Given the description of an element on the screen output the (x, y) to click on. 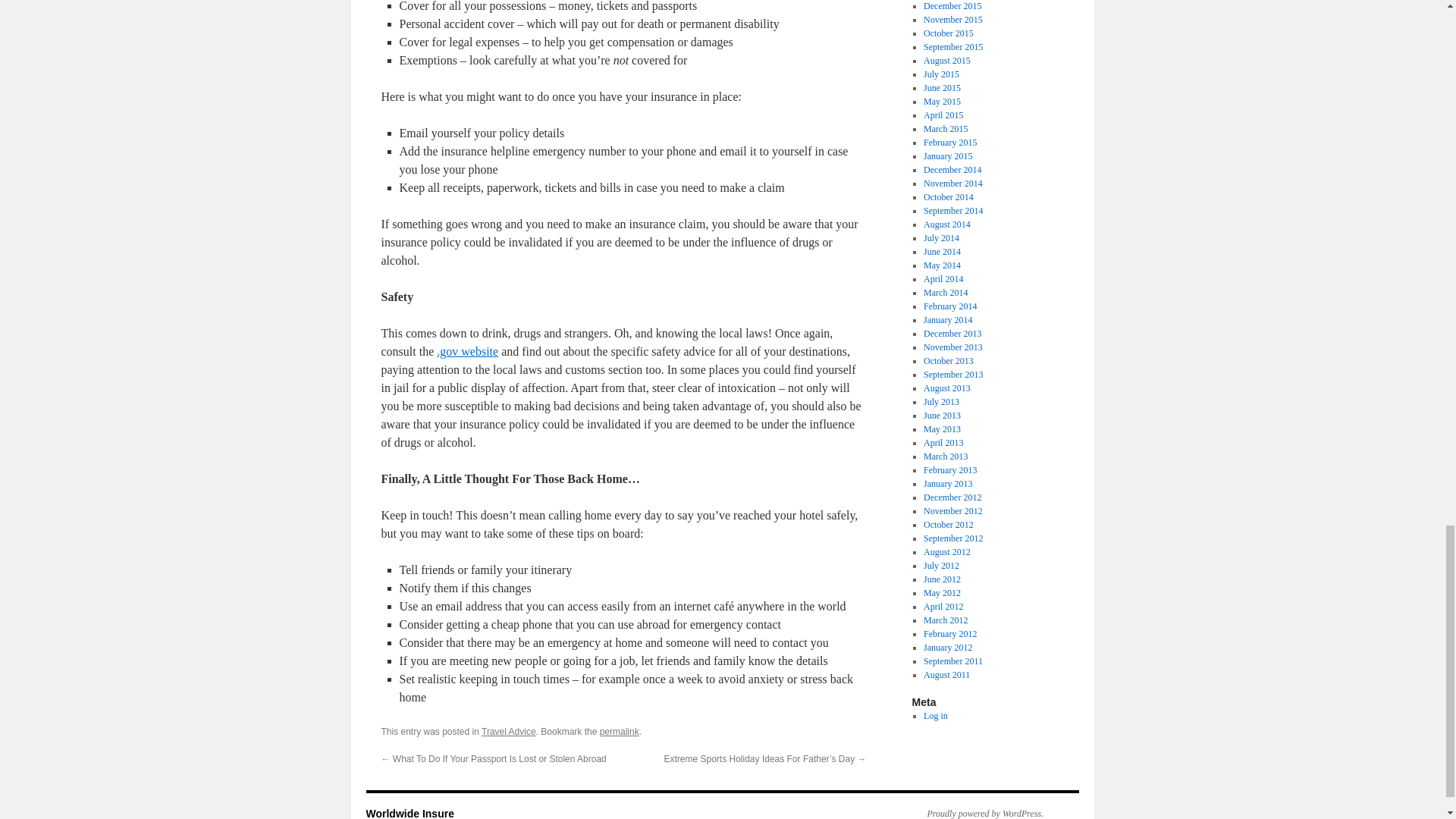
Permalink to Gap Year Travel Advice For Students (619, 731)
.gov website (466, 350)
Travel Advice (508, 731)
permalink (619, 731)
